Given the description of an element on the screen output the (x, y) to click on. 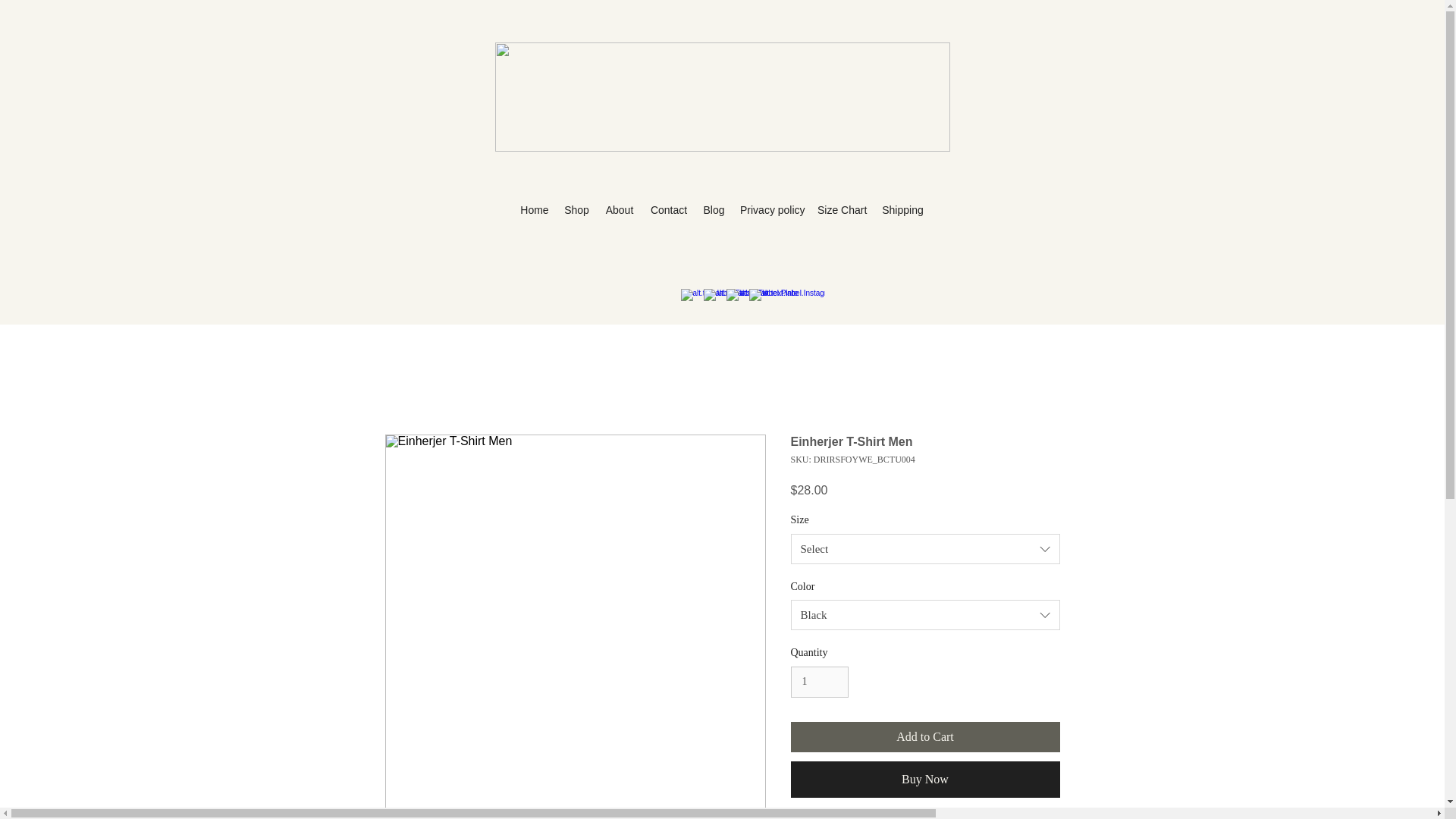
Black (924, 614)
Select (924, 548)
Contact (668, 210)
1 (818, 681)
Shipping (902, 210)
About (619, 210)
Home (534, 210)
Add to Cart (924, 736)
altosaxo LOGO PNG 1900.png (722, 96)
Size Chart (841, 210)
